Given the description of an element on the screen output the (x, y) to click on. 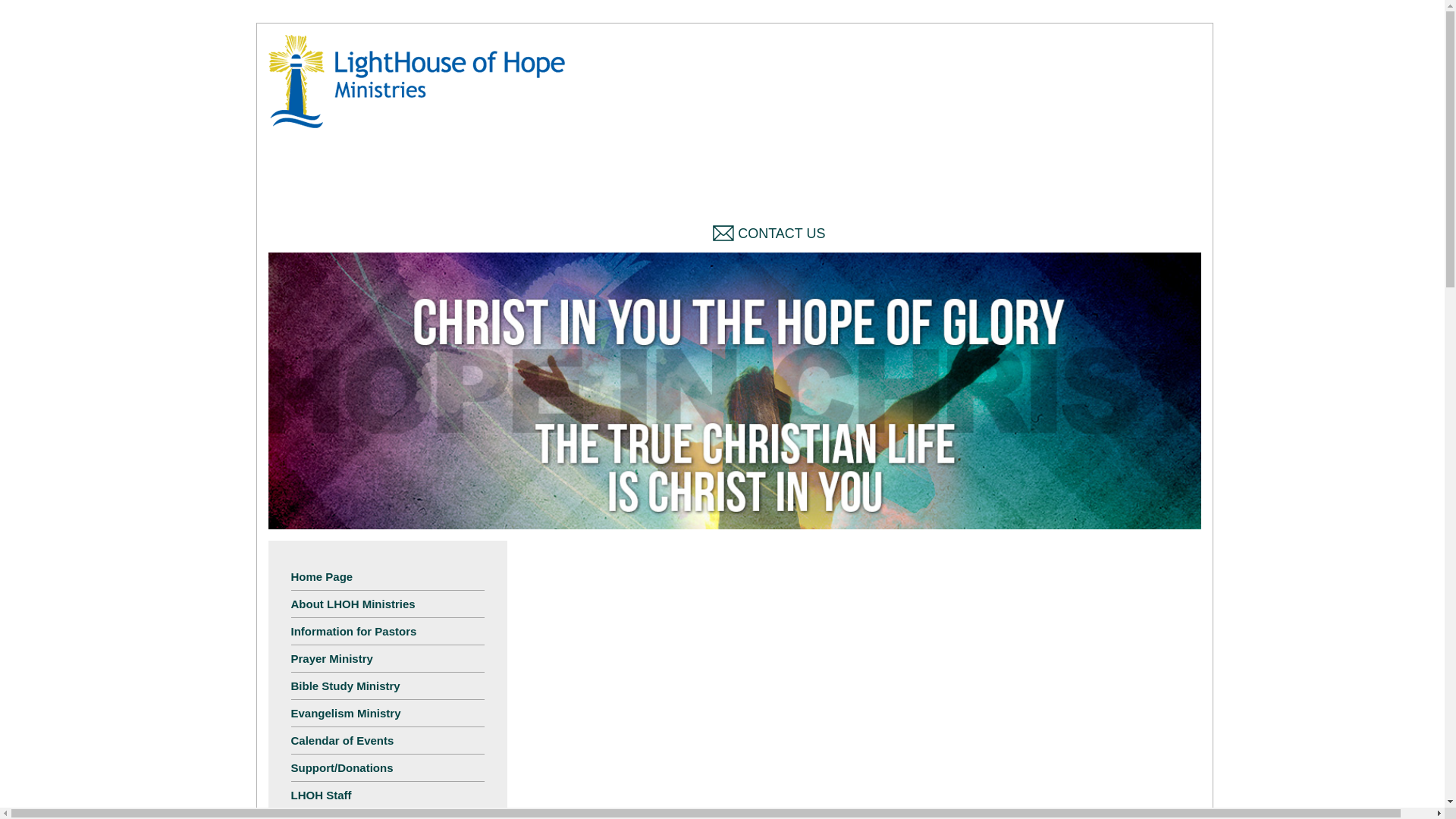
Prayer Ministry (387, 658)
CONTACT US (769, 233)
Home Page (387, 576)
Calendar of Events (387, 740)
Home Page (387, 576)
Special Events (387, 814)
LHOH Staff (387, 795)
Calendar of Events (387, 740)
Information for Pastors (387, 631)
Prayer Ministry (387, 658)
Evangelism Ministry (387, 713)
Bible Study Ministry (387, 685)
LHOH Staff (387, 795)
Special Events (387, 814)
Bible Study Ministry (387, 685)
